Given the description of an element on the screen output the (x, y) to click on. 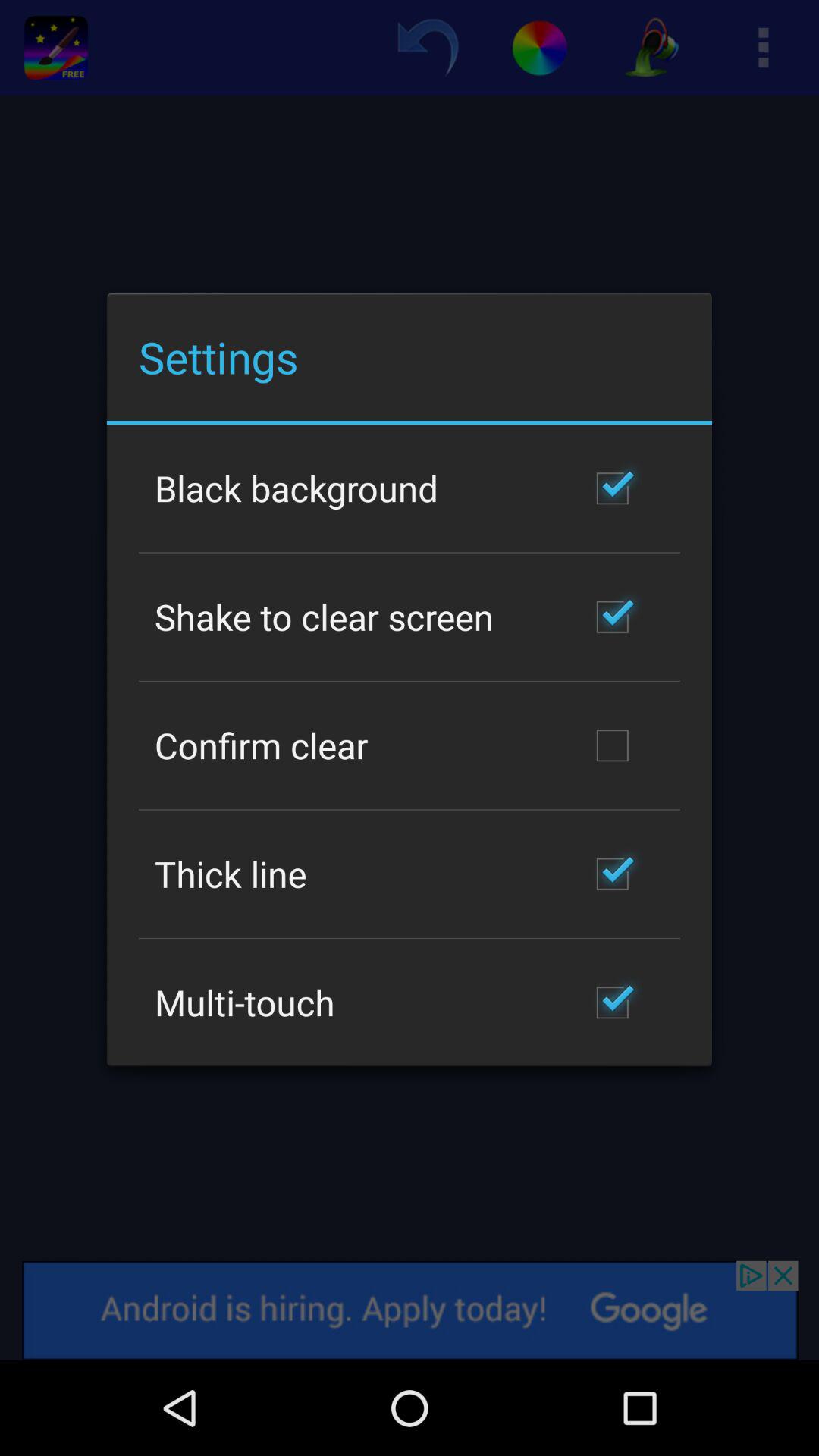
select the app above multi-touch icon (230, 873)
